Given the description of an element on the screen output the (x, y) to click on. 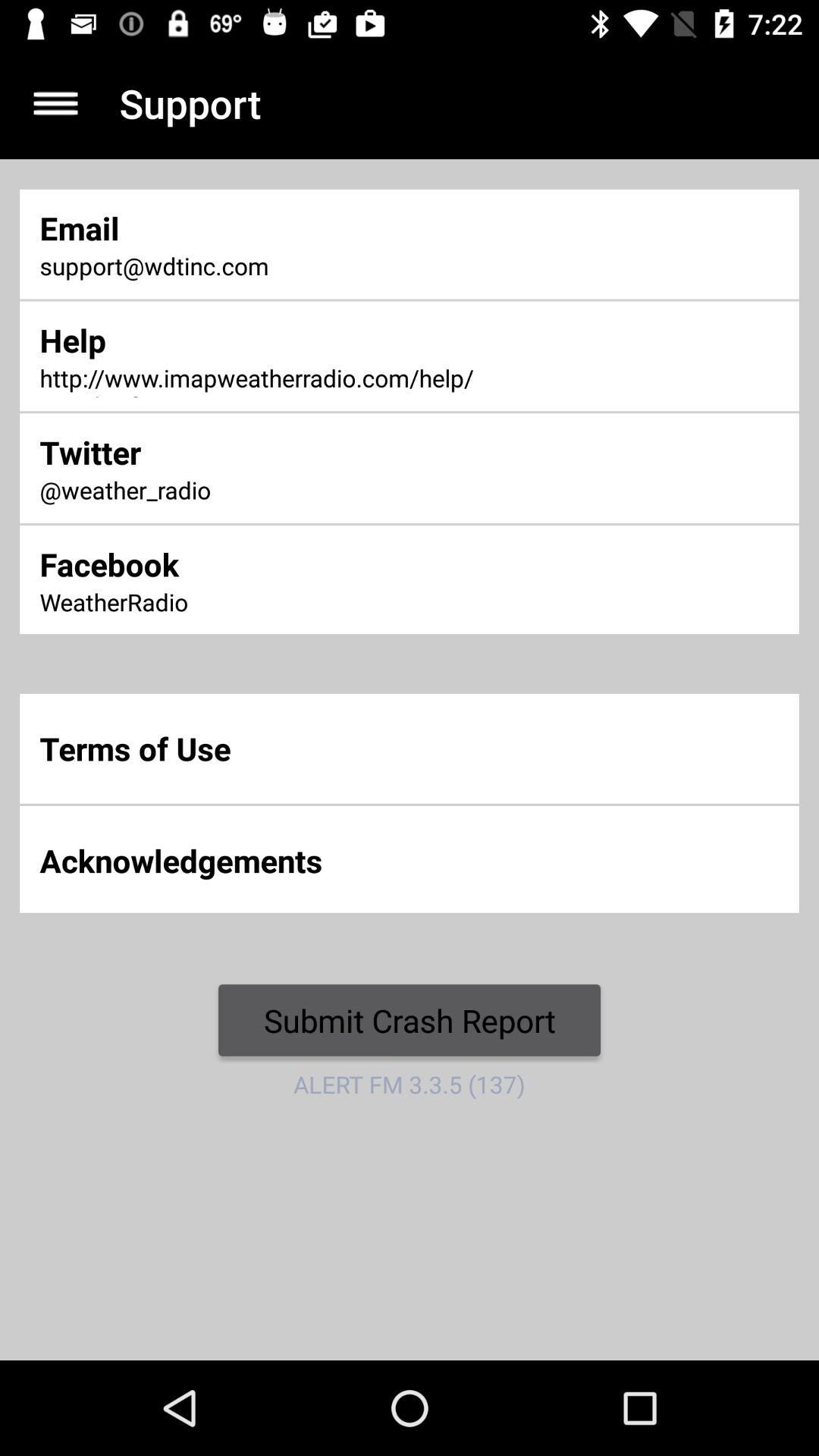
click item below the @weather_radio (272, 563)
